Given the description of an element on the screen output the (x, y) to click on. 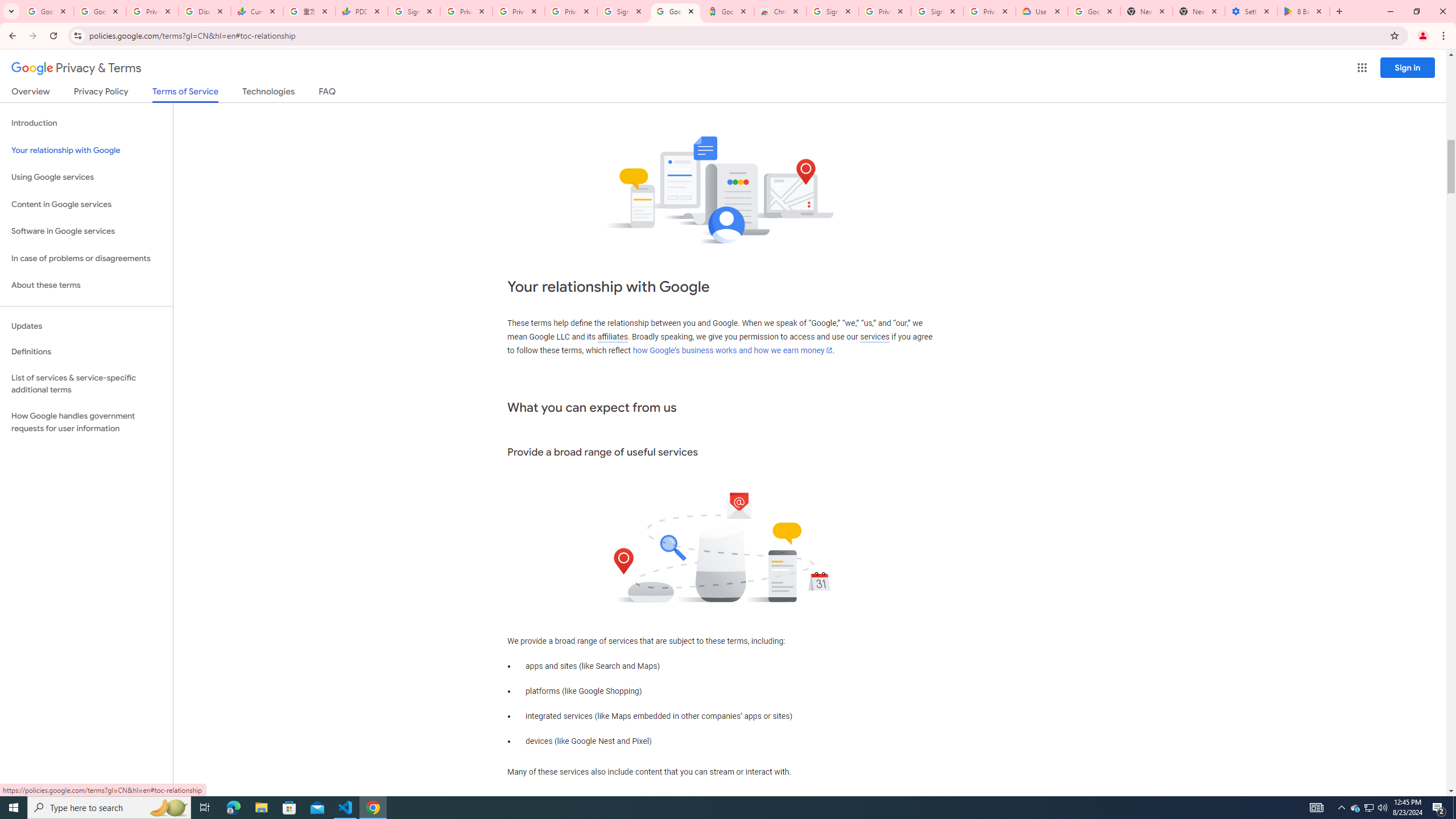
Chrome Web Store - Color themes by Chrome (779, 11)
Currencies - Google Finance (256, 11)
Sign in - Google Accounts (831, 11)
About these terms (86, 284)
Using Google services (86, 176)
Google Workspace Admin Community (47, 11)
